Given the description of an element on the screen output the (x, y) to click on. 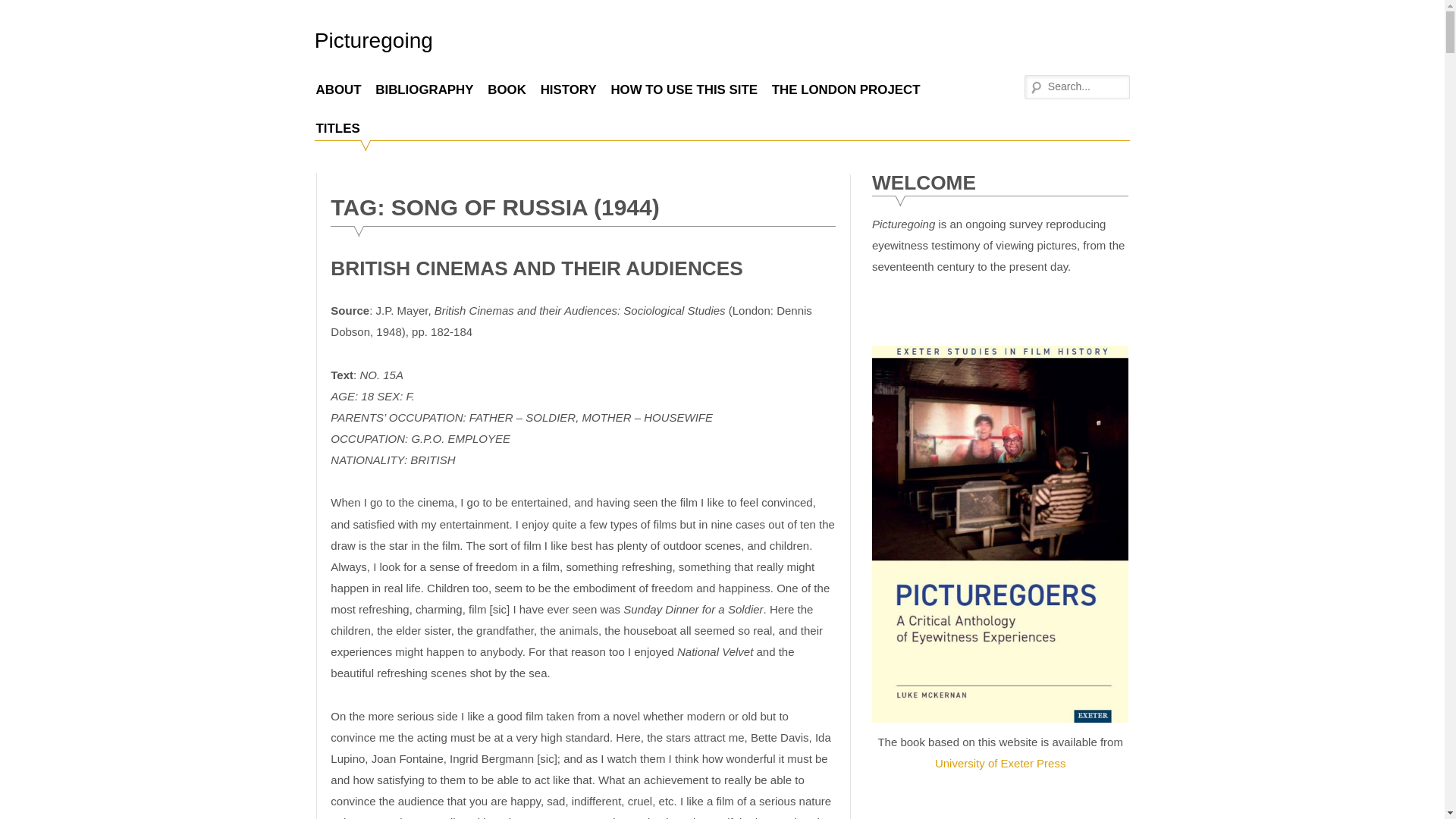
University of Exeter Press (999, 762)
BIBLIOGRAPHY (424, 89)
TITLES (337, 127)
HISTORY (568, 89)
Picturegoing (373, 40)
ABOUT (338, 89)
BOOK (506, 89)
THE LONDON PROJECT (845, 89)
BRITISH CINEMAS AND THEIR AUDIENCES (536, 268)
Search (22, 11)
HOW TO USE THIS SITE (684, 89)
